Given the description of an element on the screen output the (x, y) to click on. 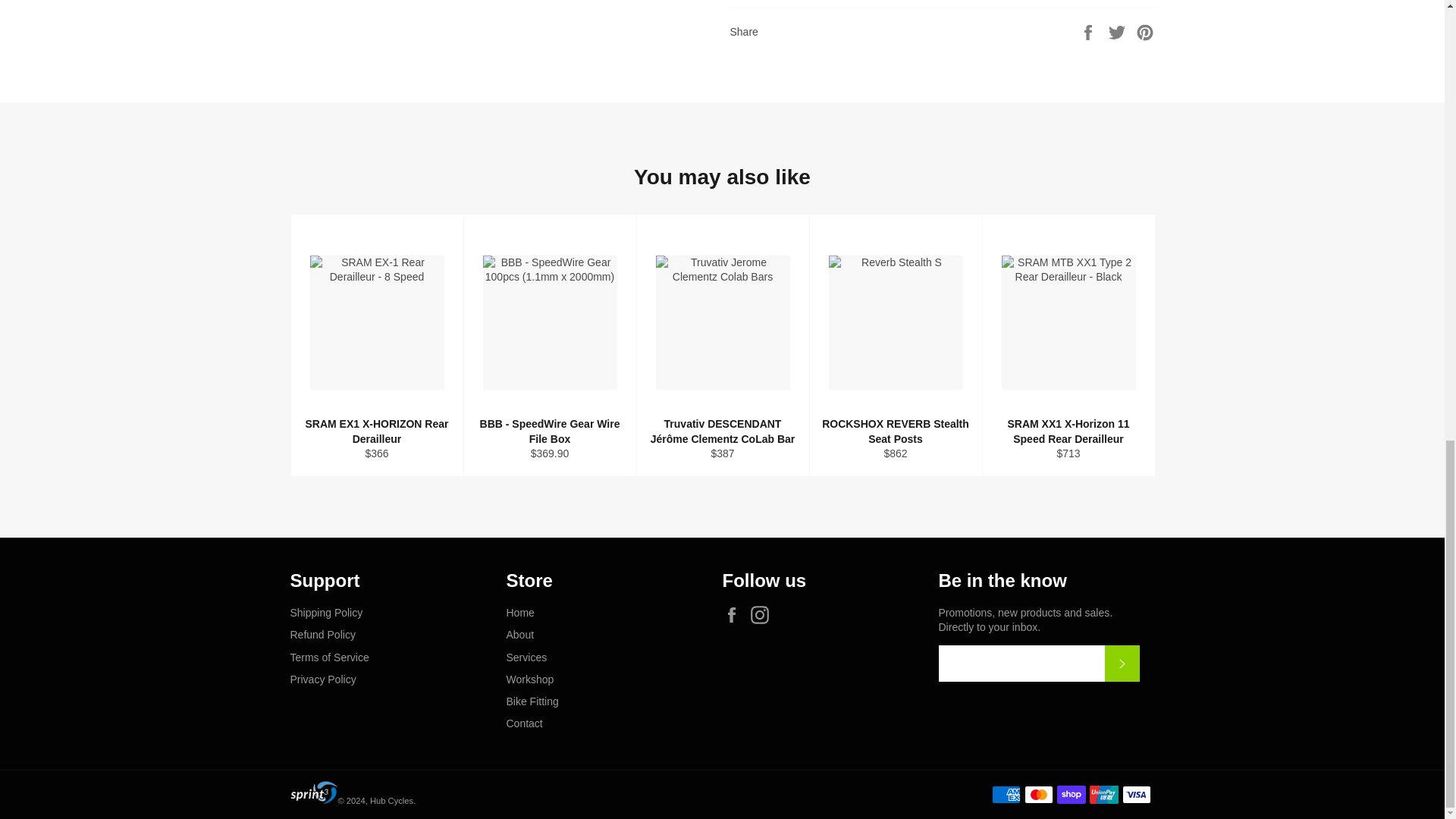
Tweet on Twitter (1118, 30)
Hub Cycles on Instagram (763, 615)
Hub Cycles on Facebook (735, 615)
Share on Facebook (1089, 30)
Pin on Pinterest (1144, 30)
My image (313, 792)
